Given the description of an element on the screen output the (x, y) to click on. 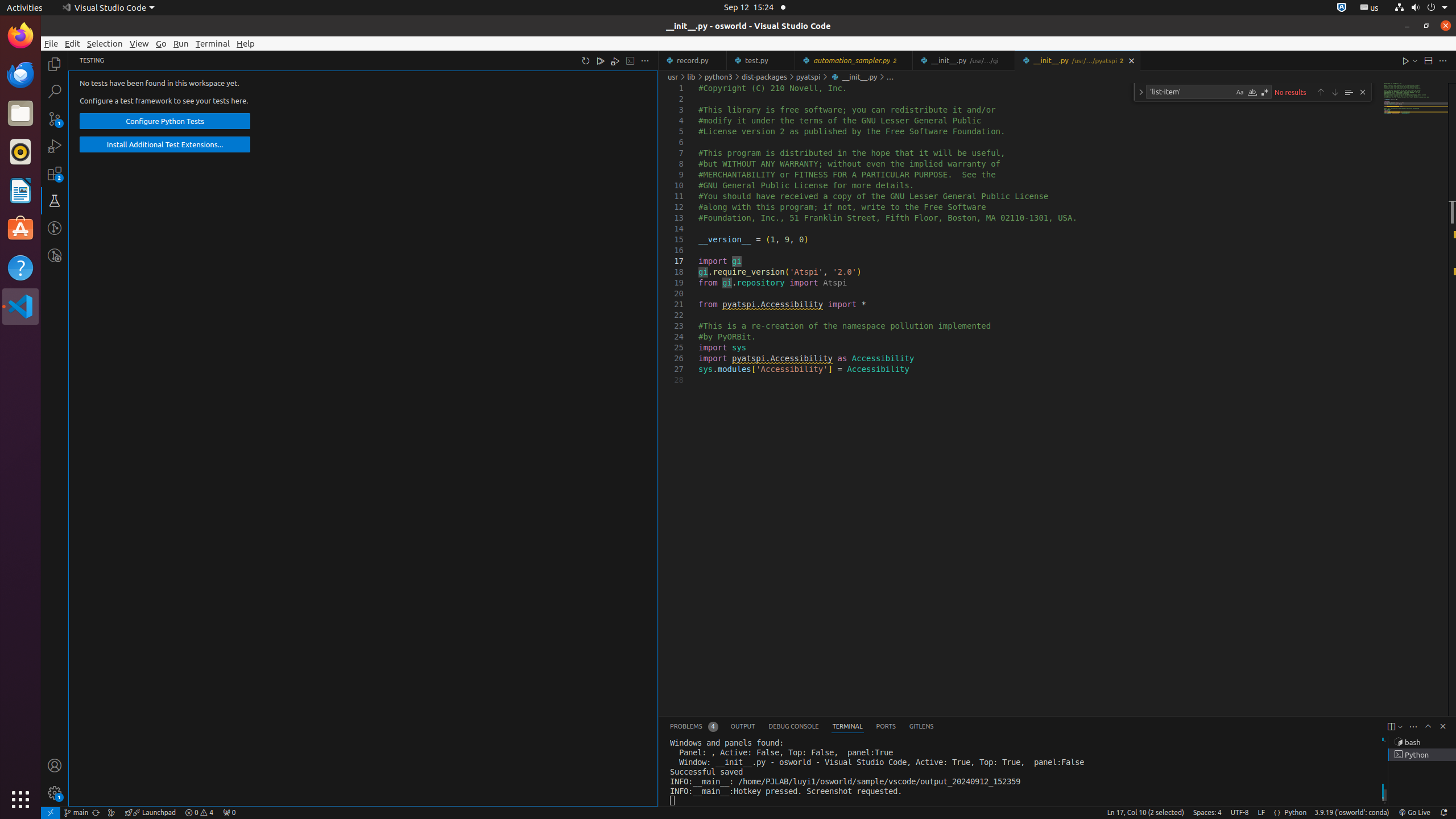
Launch Profile... Element type: push-button (1399, 726)
Edit Element type: push-button (72, 43)
Next Match (Enter) Element type: push-button (1334, 91)
Refresh Tests (Ctrl+; Ctrl+R) Element type: push-button (585, 60)
View Element type: push-button (139, 43)
